Given the description of an element on the screen output the (x, y) to click on. 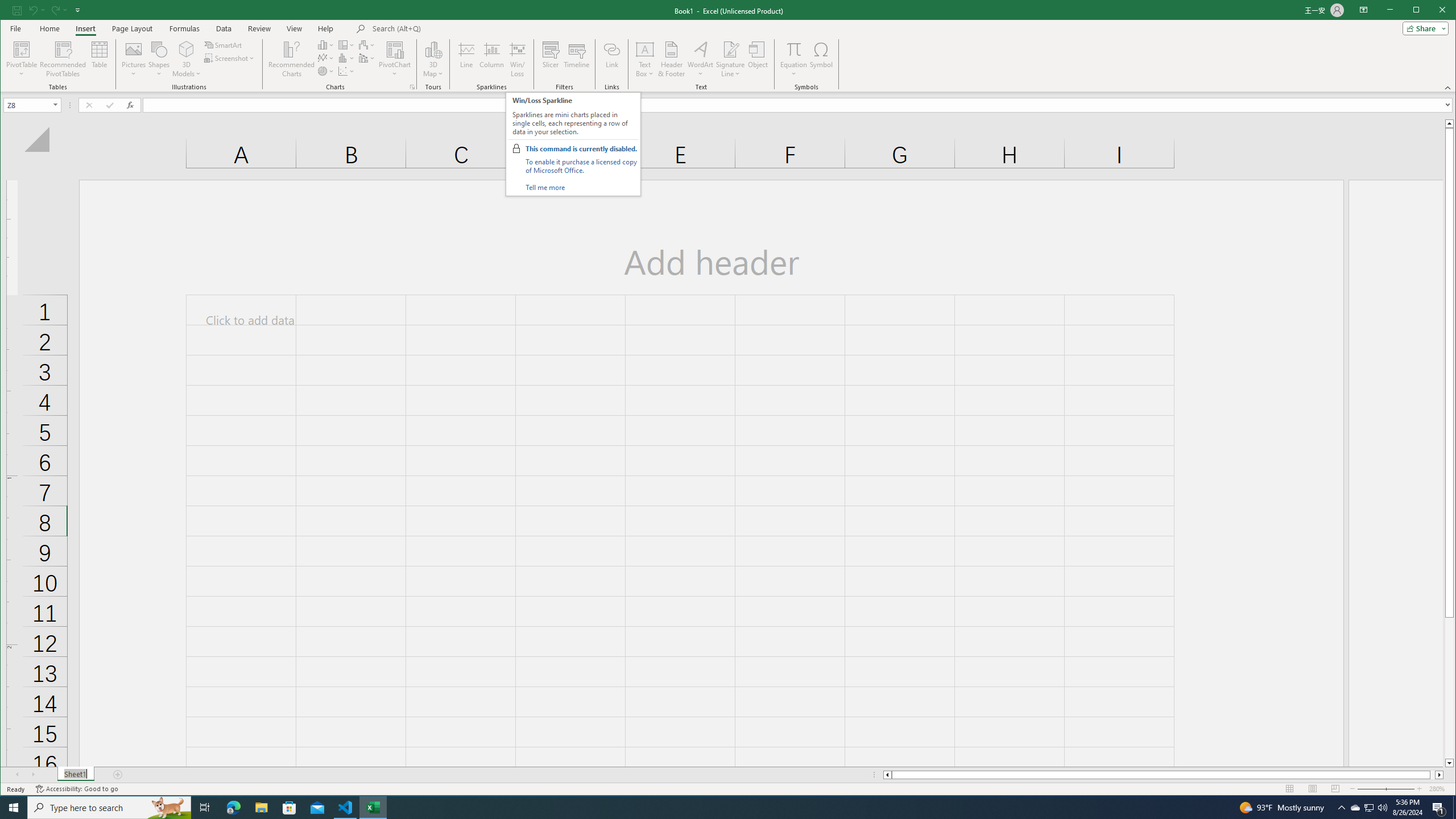
Running applications (717, 807)
Link (611, 59)
Insert Column or Bar Chart (325, 44)
3D Map (432, 59)
Sheet Tab (75, 774)
Excel - 1 running window (373, 807)
Draw Horizontal Text Box (644, 48)
PivotTable (22, 48)
